Given the description of an element on the screen output the (x, y) to click on. 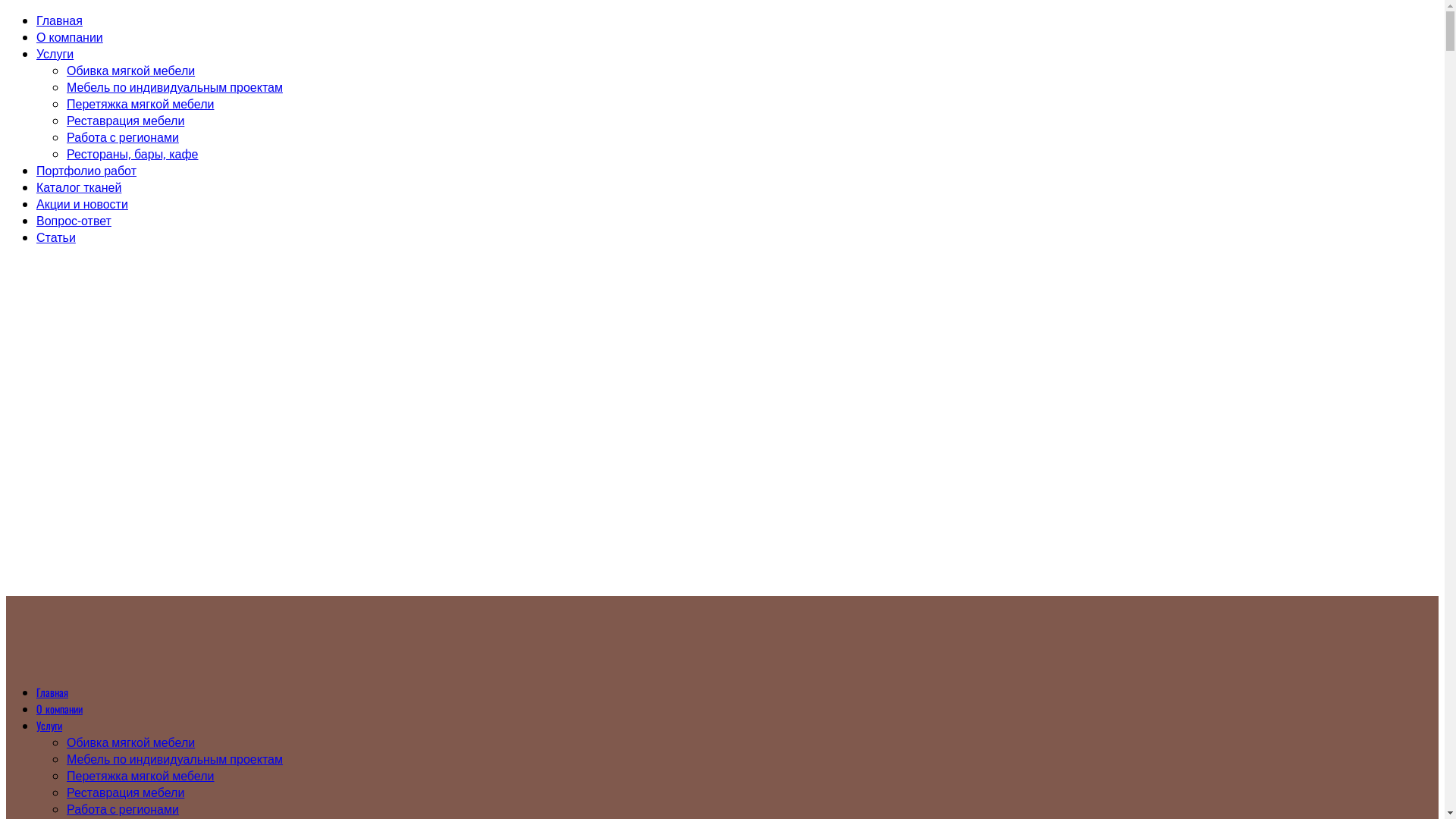
Instagram: vlmebel.by Element type: text (76, 354)
